Given the description of an element on the screen output the (x, y) to click on. 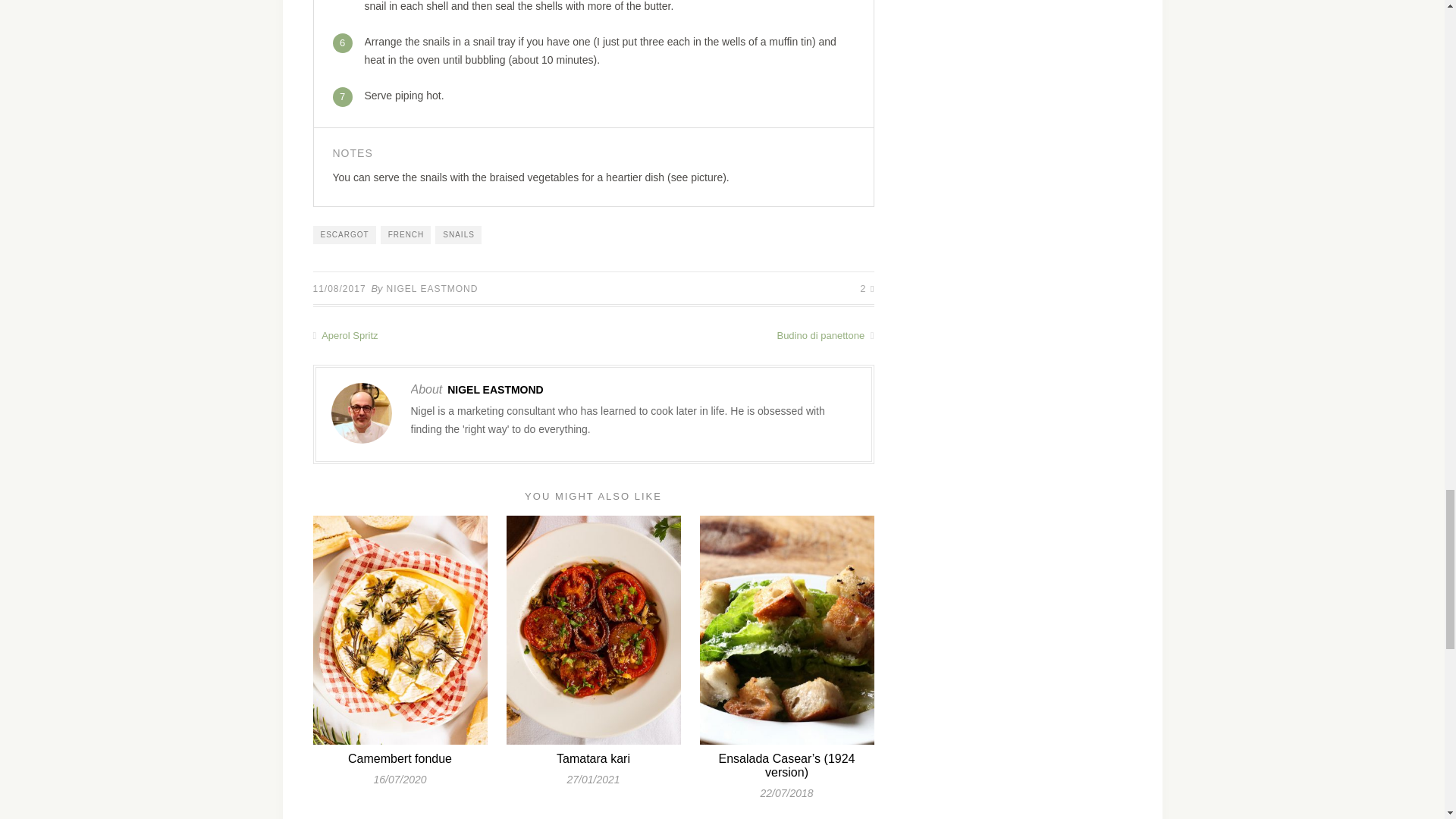
Posts by Nigel Eastmond (494, 389)
Posts by Nigel Eastmond (433, 288)
2 (866, 288)
SNAILS (458, 235)
FRENCH (405, 235)
ESCARGOT (344, 235)
NIGEL EASTMOND (433, 288)
